Given the description of an element on the screen output the (x, y) to click on. 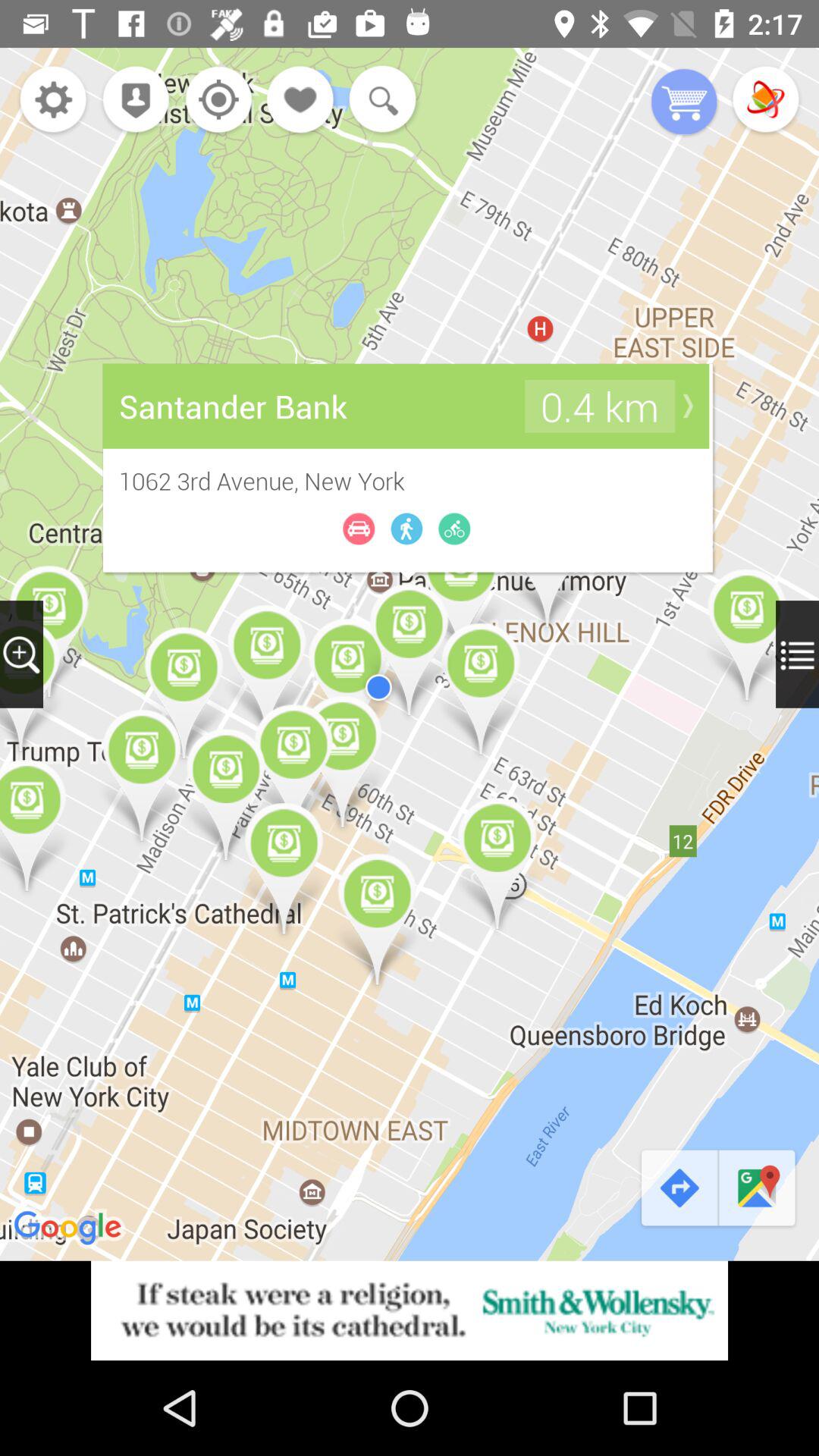
place pin at current location (131, 100)
